Given the description of an element on the screen output the (x, y) to click on. 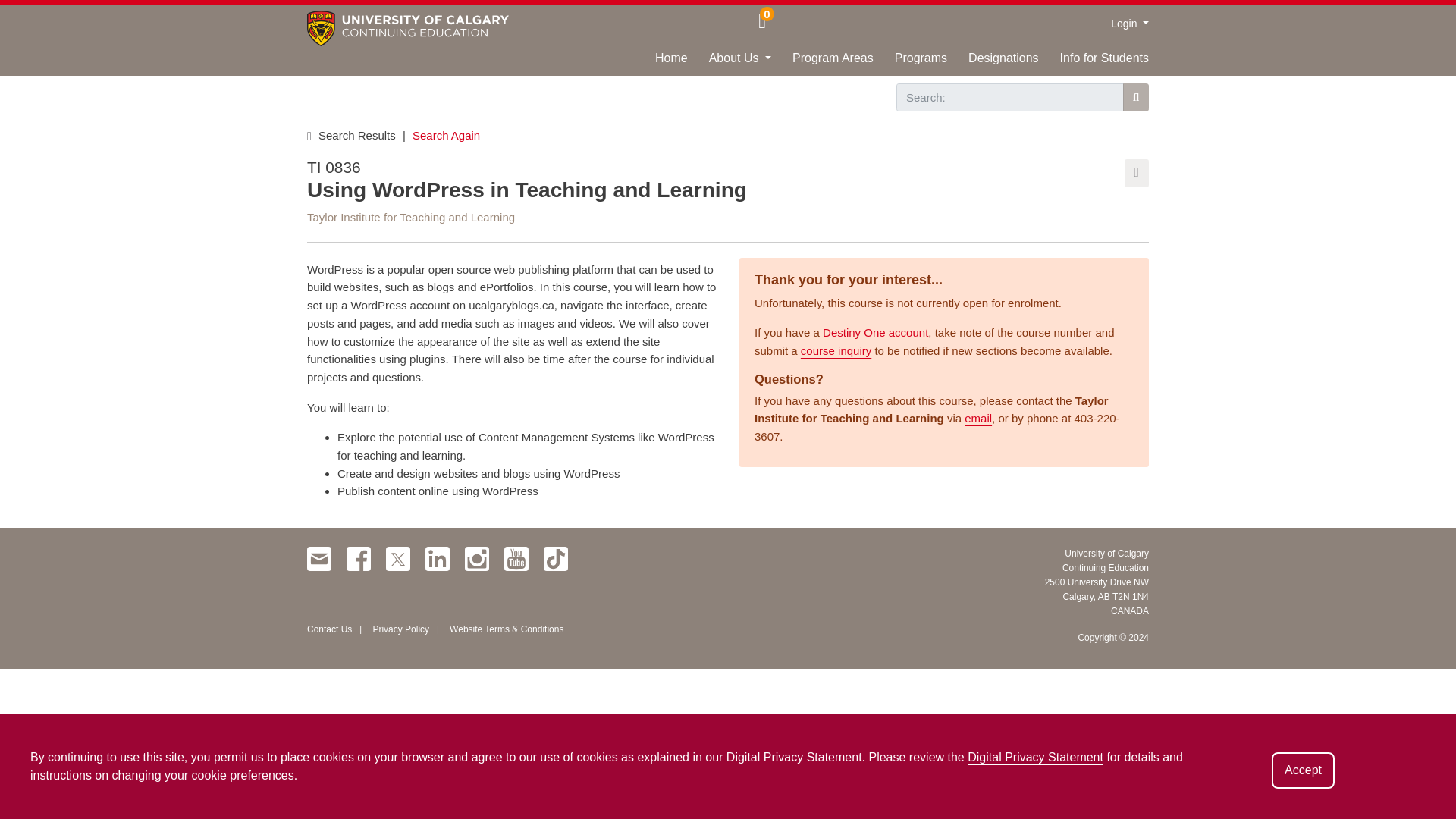
Privacy Policy (400, 629)
Info for Students (1093, 62)
Search Again (446, 134)
University of Calgary (1106, 552)
Programs (910, 62)
About Us (729, 62)
Contact Us (329, 629)
Designations (993, 62)
Login (1129, 23)
course inquiry (835, 350)
Program Areas (822, 62)
Request Information (61, 13)
Home (660, 62)
email (977, 418)
Search Results (358, 134)
